Given the description of an element on the screen output the (x, y) to click on. 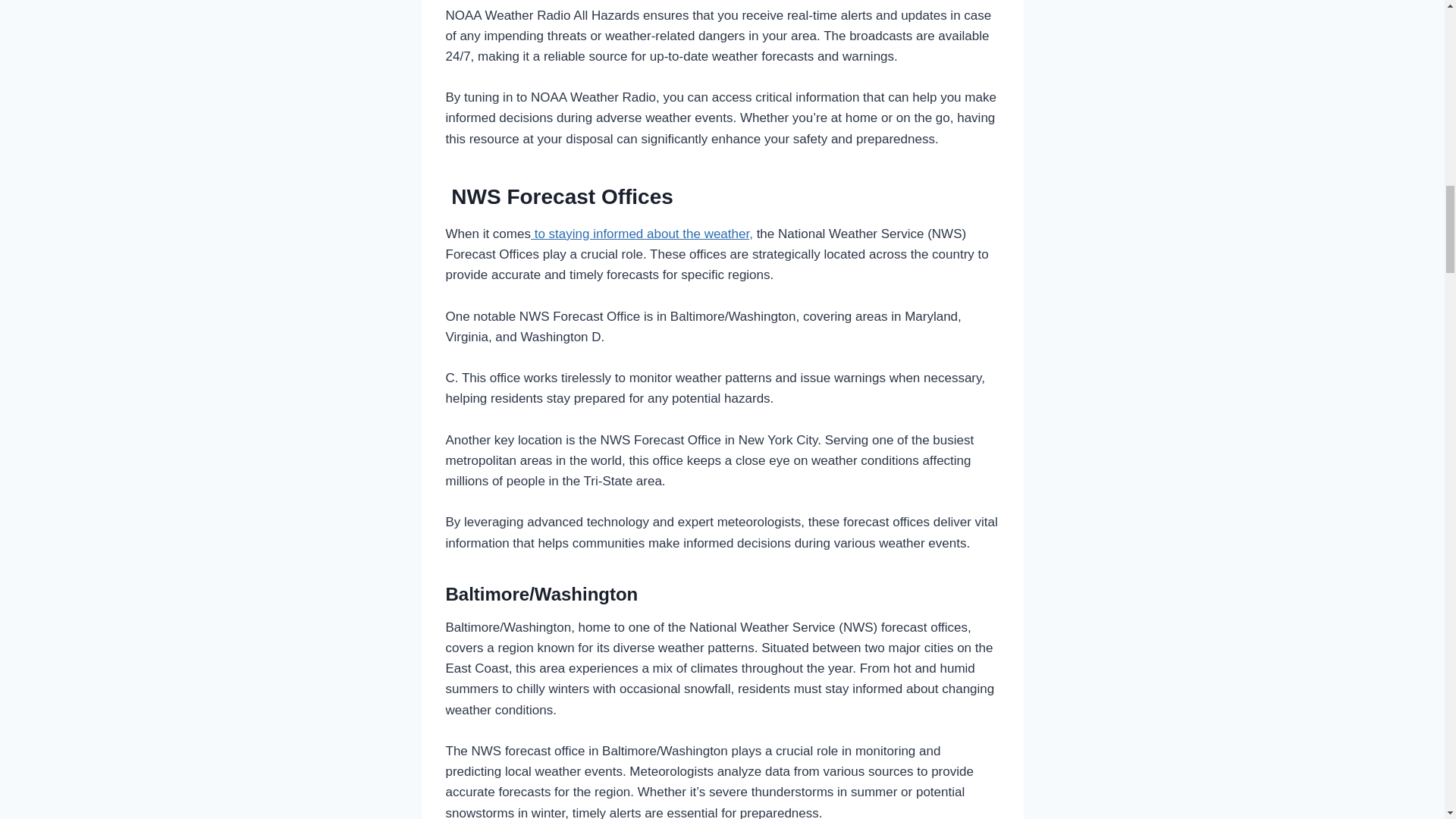
to staying informed about the weather, (641, 233)
